Given the description of an element on the screen output the (x, y) to click on. 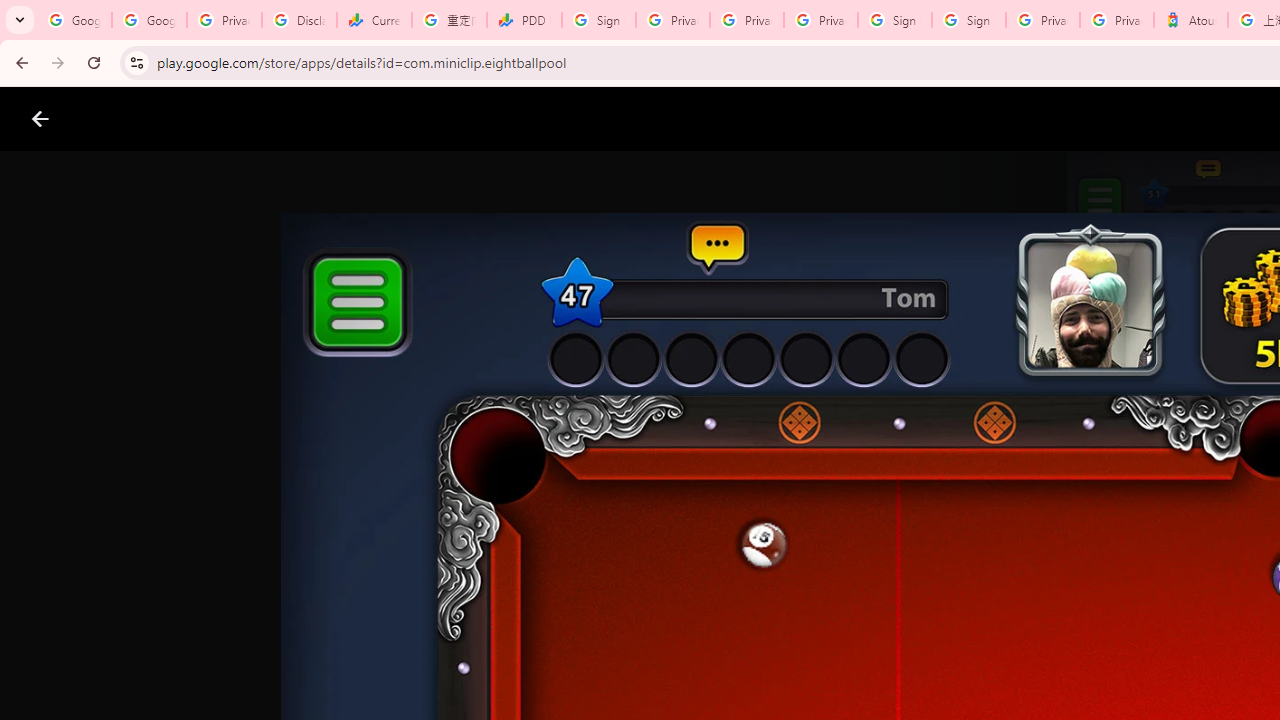
PDD Holdings Inc - ADR (PDD) Price & News - Google Finance (523, 20)
Privacy Checkup (747, 20)
More info about this content rating (1013, 678)
Close screenshot viewer (39, 119)
Atour Hotel - Google hotels (1190, 20)
Games (248, 119)
Sign in - Google Accounts (968, 20)
Sign in - Google Accounts (598, 20)
